Given the description of an element on the screen output the (x, y) to click on. 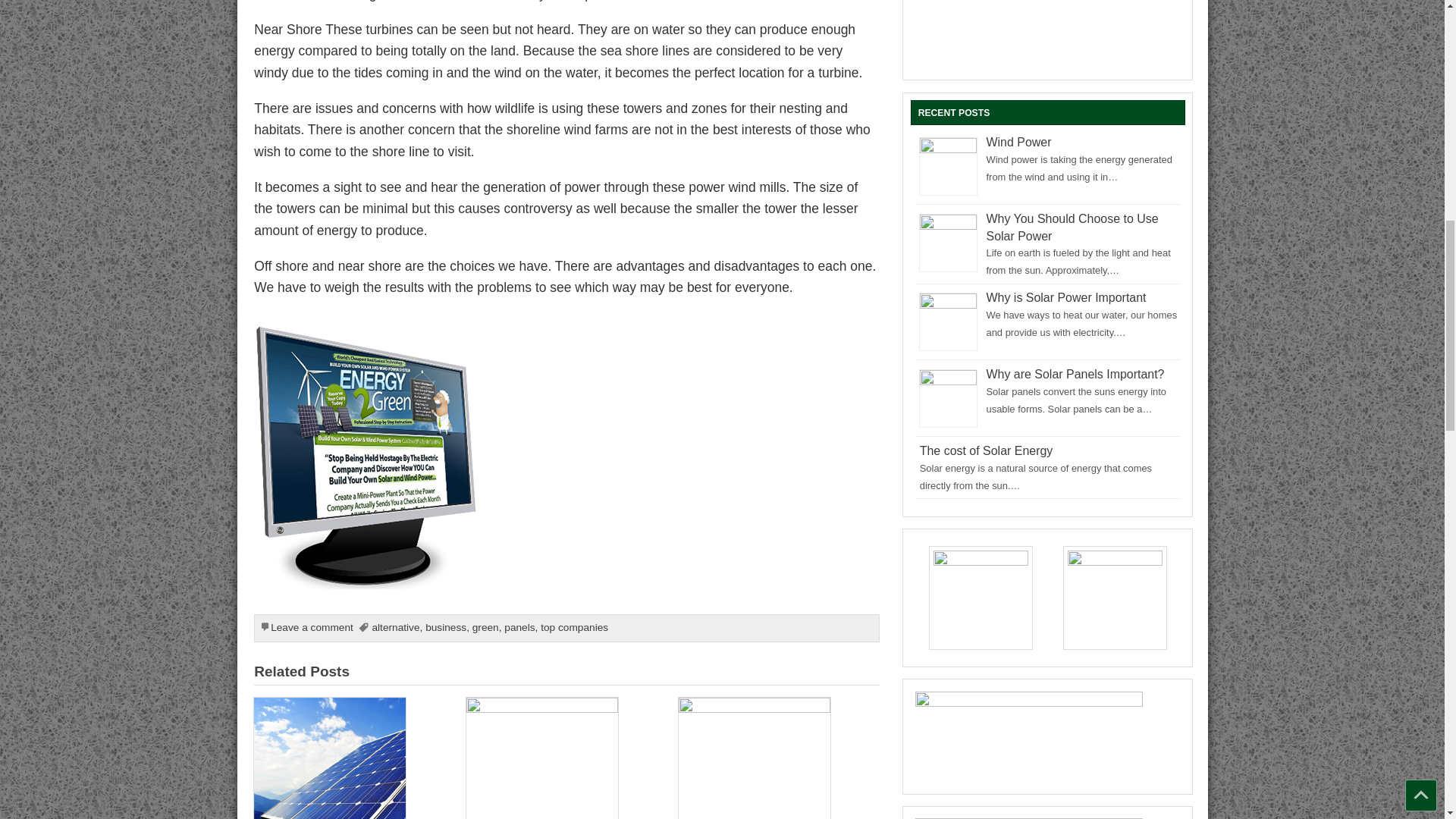
top companies (574, 627)
business (445, 627)
Leave a comment (311, 627)
alternative (395, 627)
panels (518, 627)
Build Your Own Wind and Solar Energy (367, 334)
green (485, 627)
Why You Should Choose to Use Solar Power (1072, 227)
Wind Power (1019, 141)
